Given the description of an element on the screen output the (x, y) to click on. 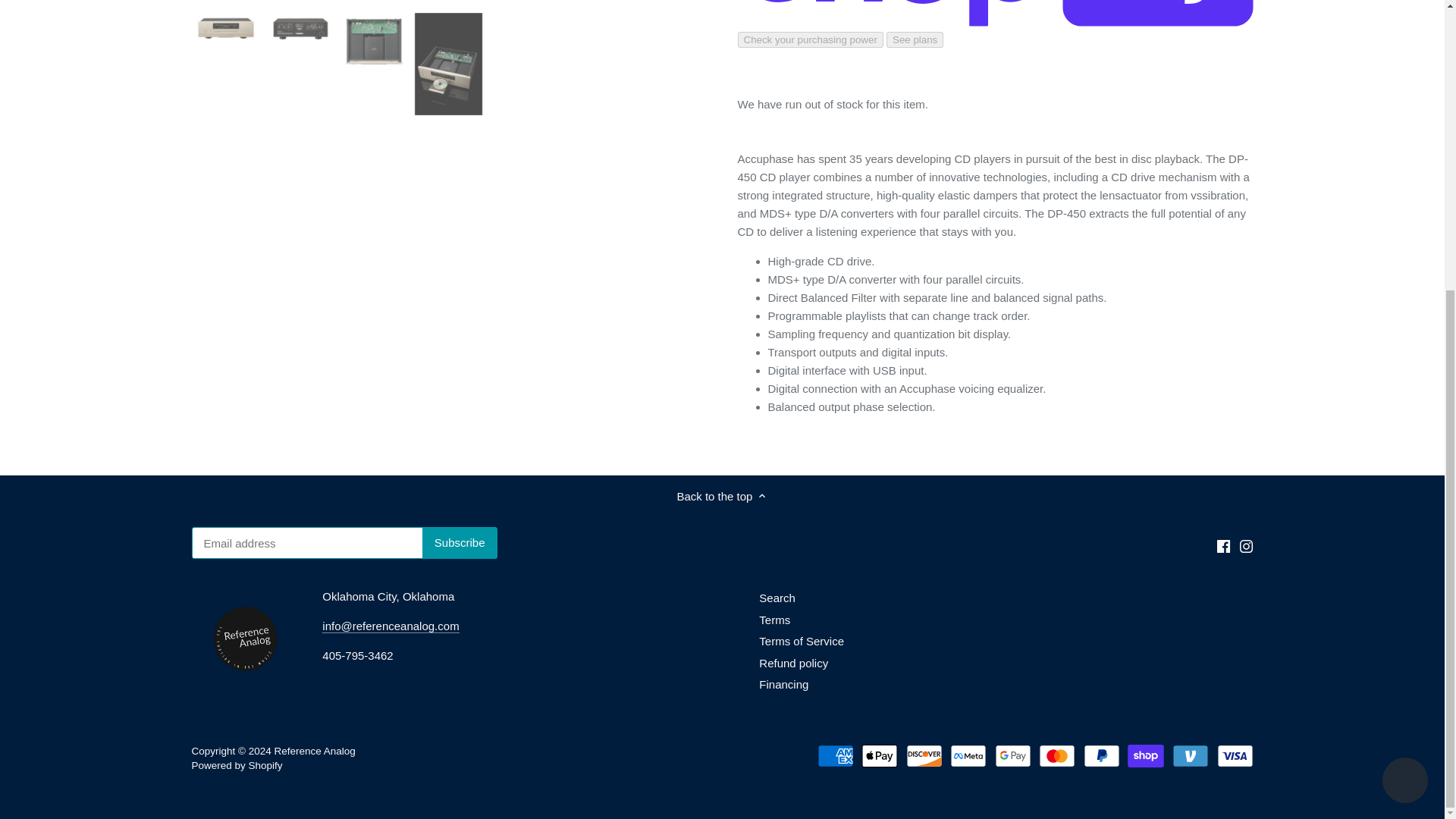
Mastercard (1057, 755)
PayPal (1101, 755)
Shopify online store chat (1404, 340)
Google Pay (1012, 755)
Discover (923, 755)
American Express (834, 755)
Meta Pay (968, 755)
Instagram (1246, 545)
Apple Pay (879, 755)
Subscribe (459, 542)
